Given the description of an element on the screen output the (x, y) to click on. 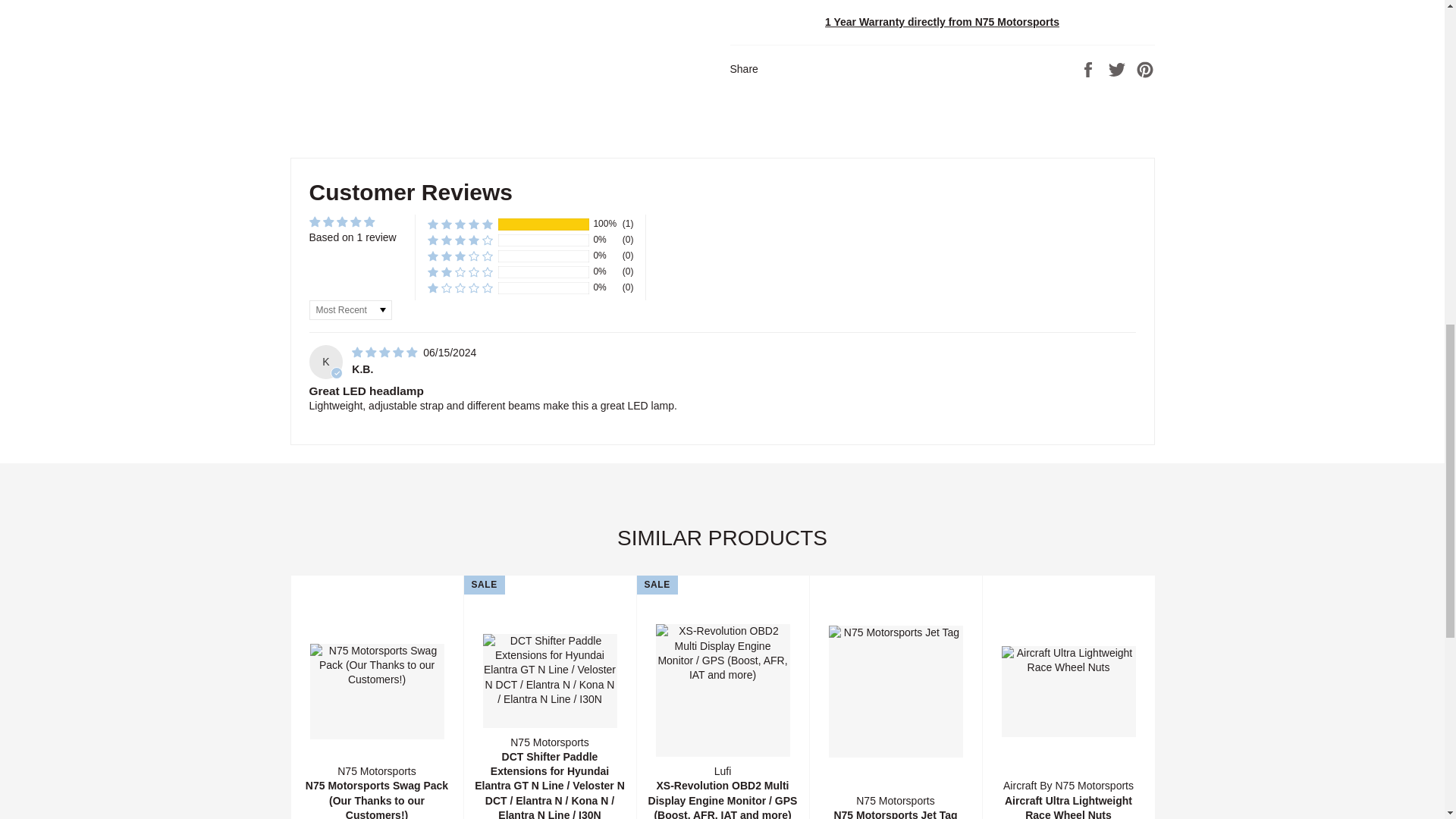
Tweet on Twitter (1118, 69)
Pin on Pinterest (1144, 69)
Share on Facebook (1089, 69)
